Given the description of an element on the screen output the (x, y) to click on. 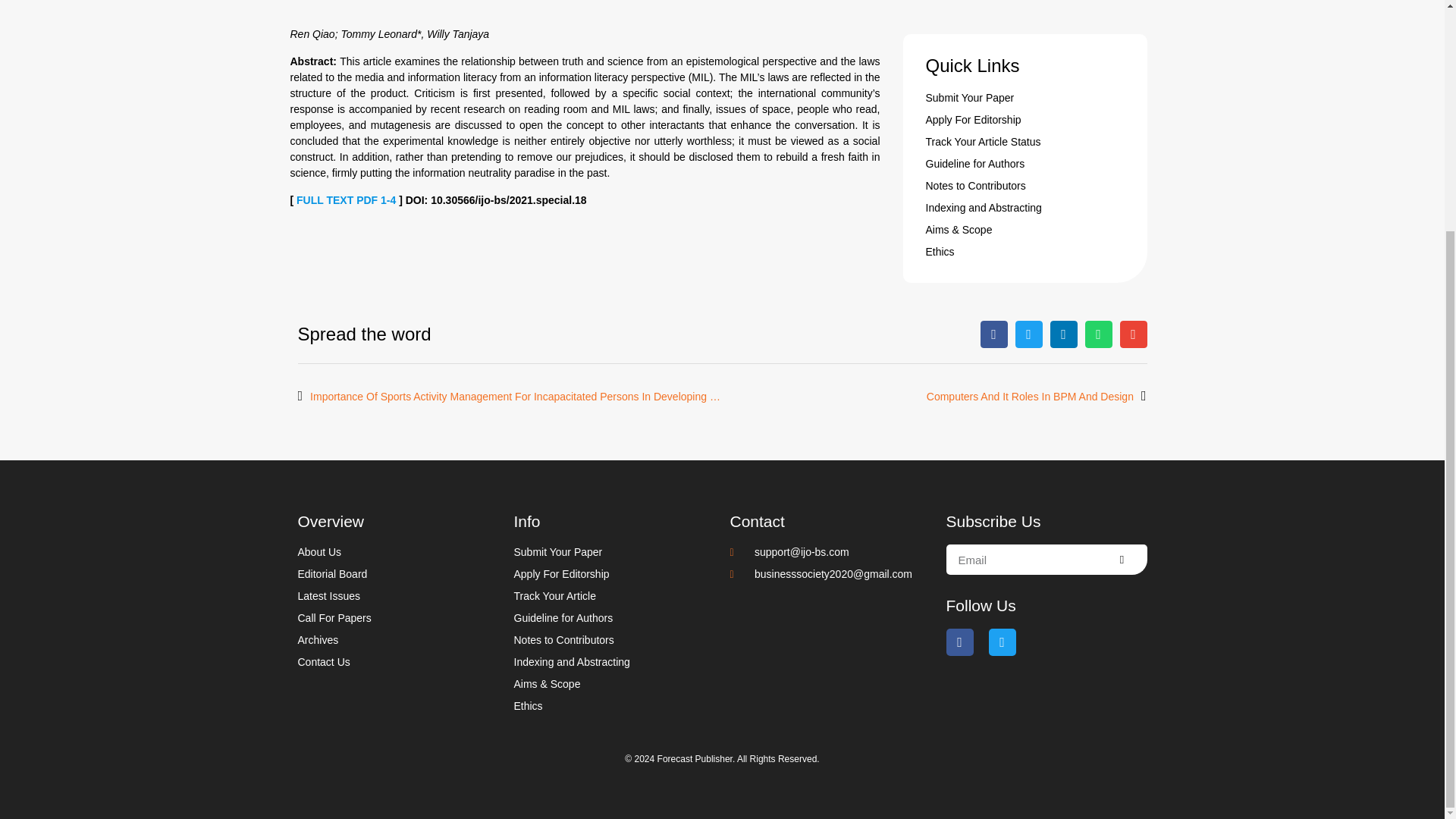
Track Your Article Status (1024, 141)
Guideline for Authors (1024, 163)
Indexing and Abstracting (1024, 207)
Ethics (1024, 252)
Submit Your Paper (1024, 98)
Apply For Editorship (1024, 119)
Notes to Contributors (1024, 186)
FULL TEXT PDF 1-4  (347, 200)
